Given the description of an element on the screen output the (x, y) to click on. 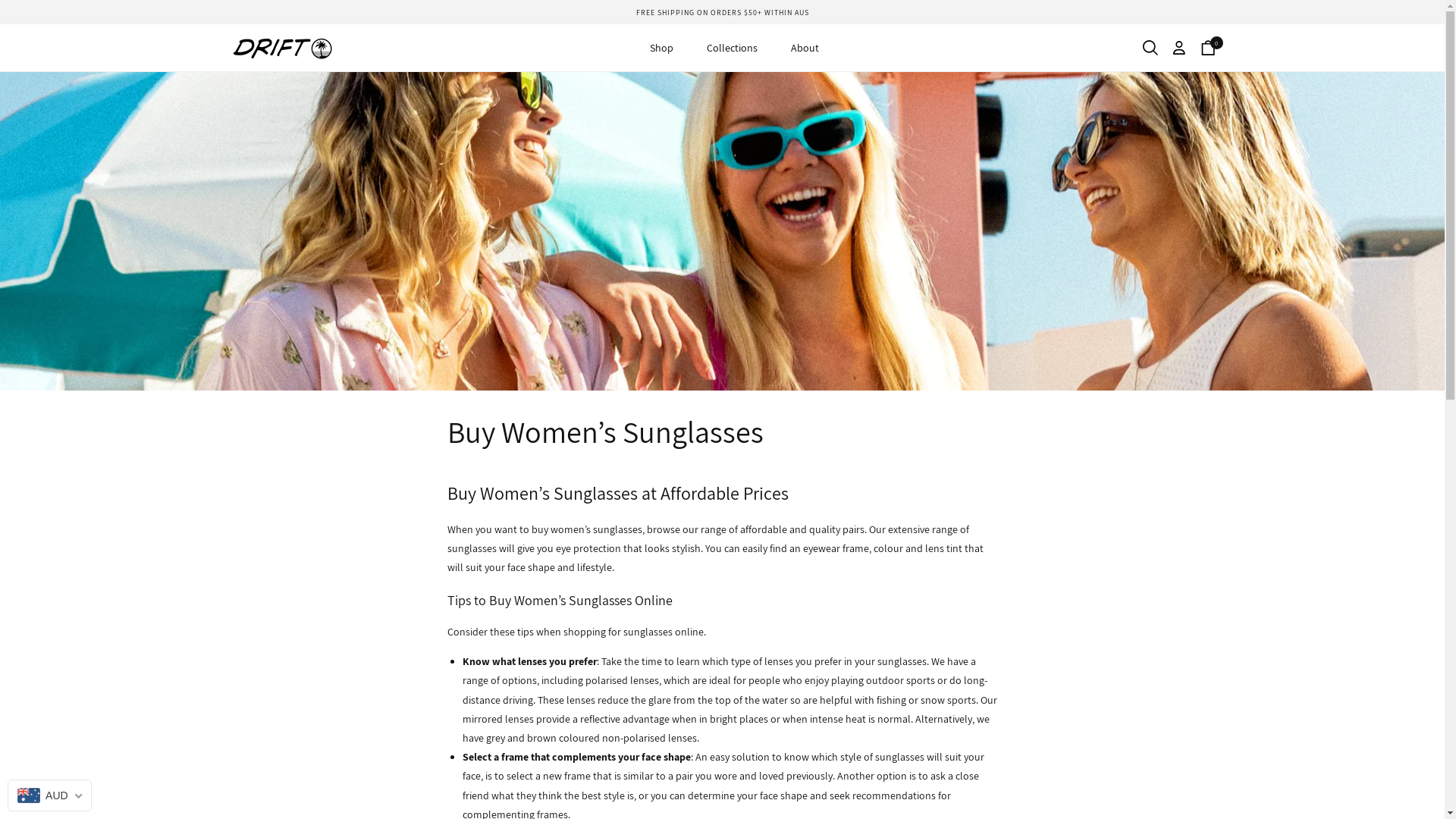
About Element type: text (804, 47)
Collections Element type: text (731, 47)
Shop Element type: text (661, 47)
